Given the description of an element on the screen output the (x, y) to click on. 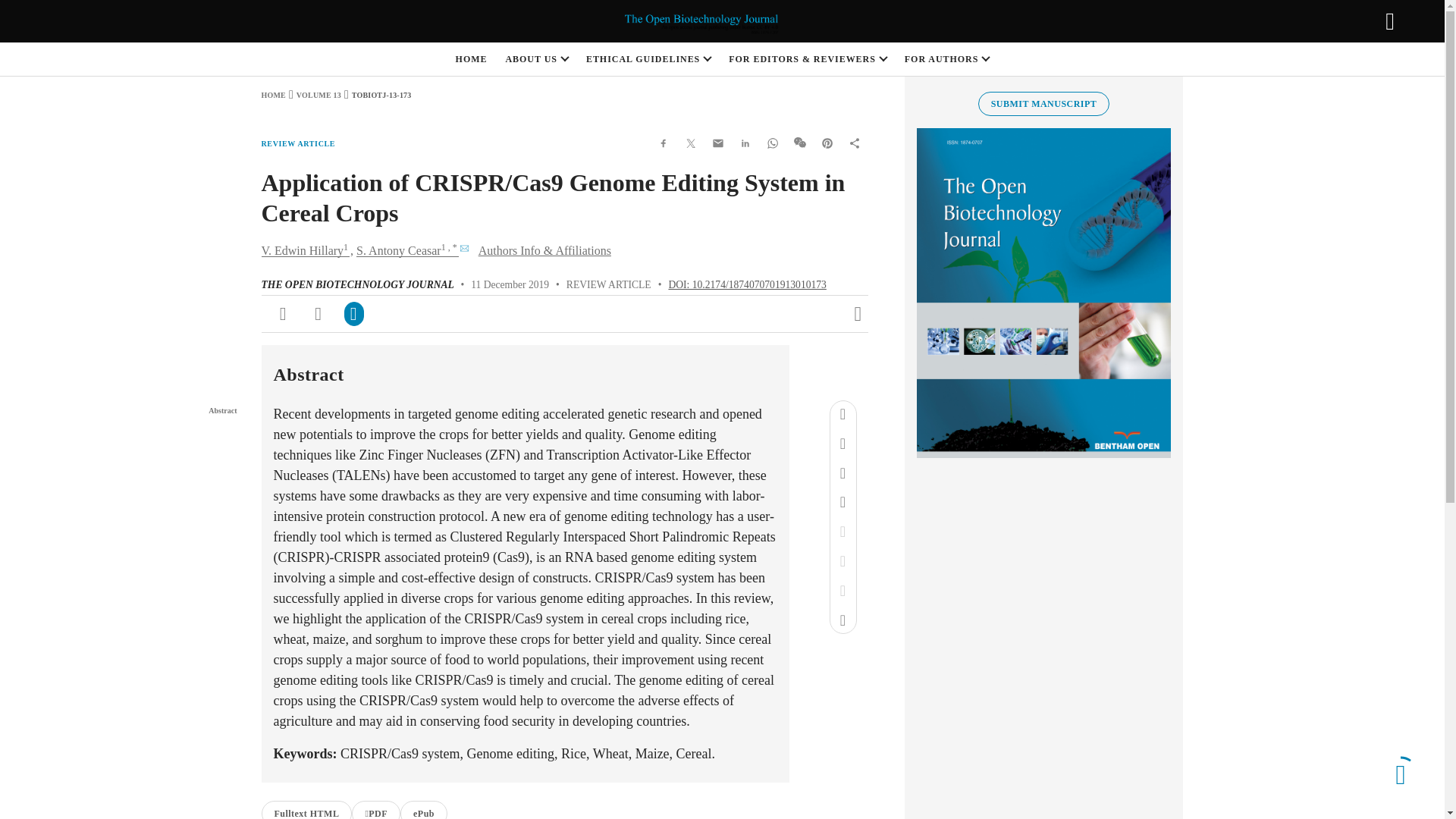
Section Navigation (175, 387)
Back to top1 (1400, 774)
Home (272, 94)
Search (1389, 21)
